Given the description of an element on the screen output the (x, y) to click on. 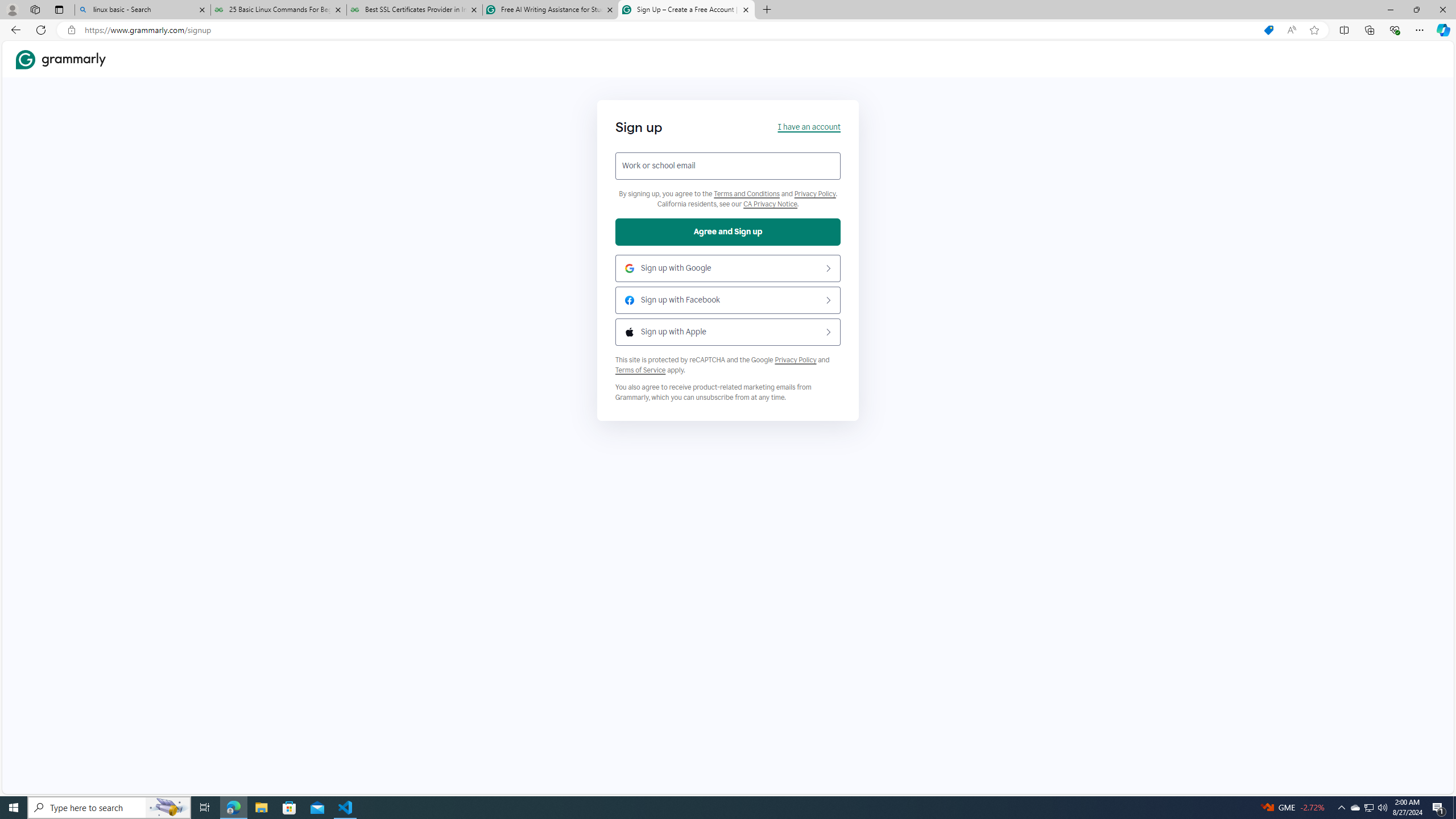
Sign up with Google (727, 267)
Free AI Writing Assistance for Students | Grammarly (550, 9)
Sign up with Google (727, 267)
Google Terms of Service (640, 370)
